Given the description of an element on the screen output the (x, y) to click on. 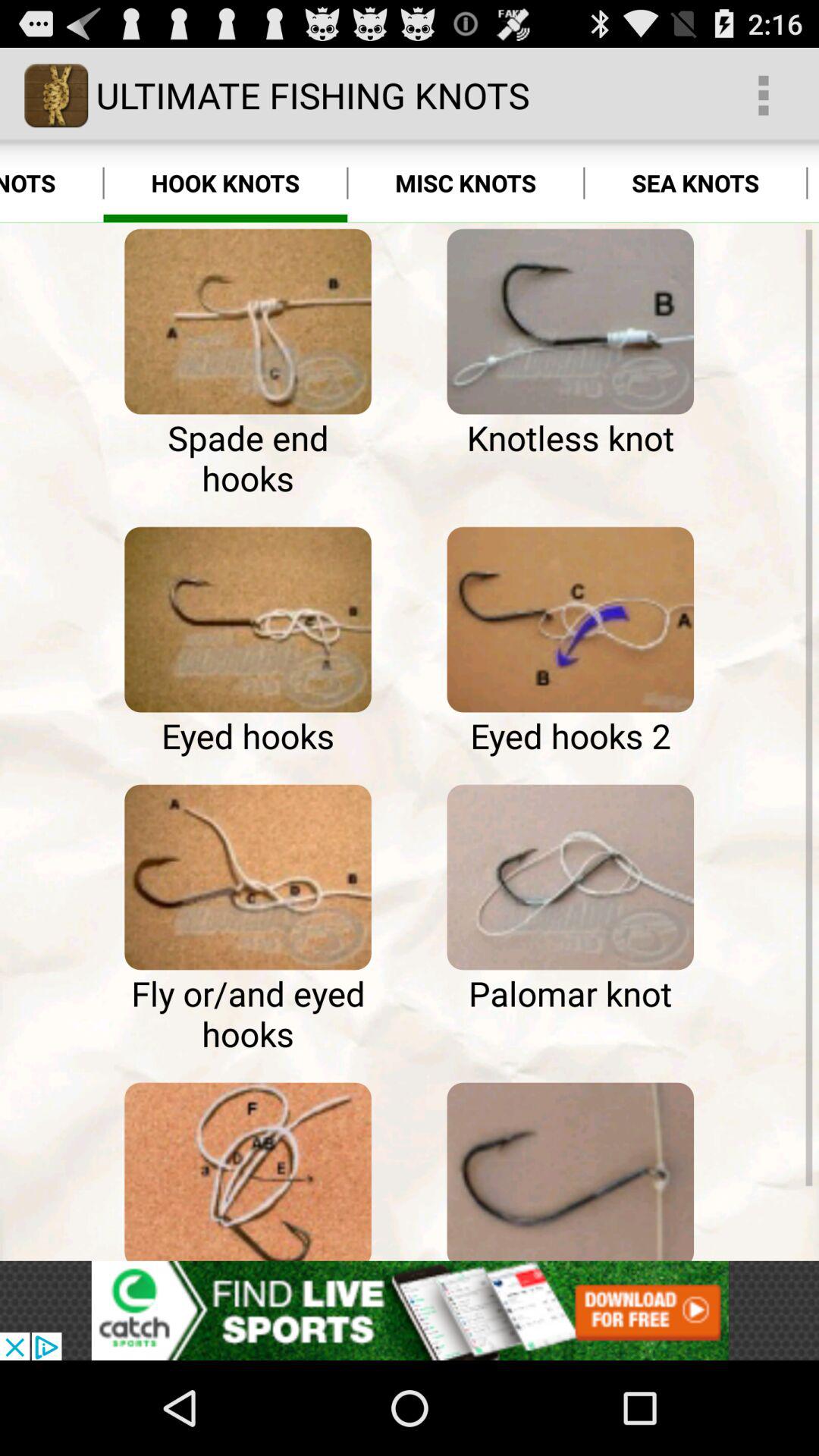
picture page (247, 876)
